Given the description of an element on the screen output the (x, y) to click on. 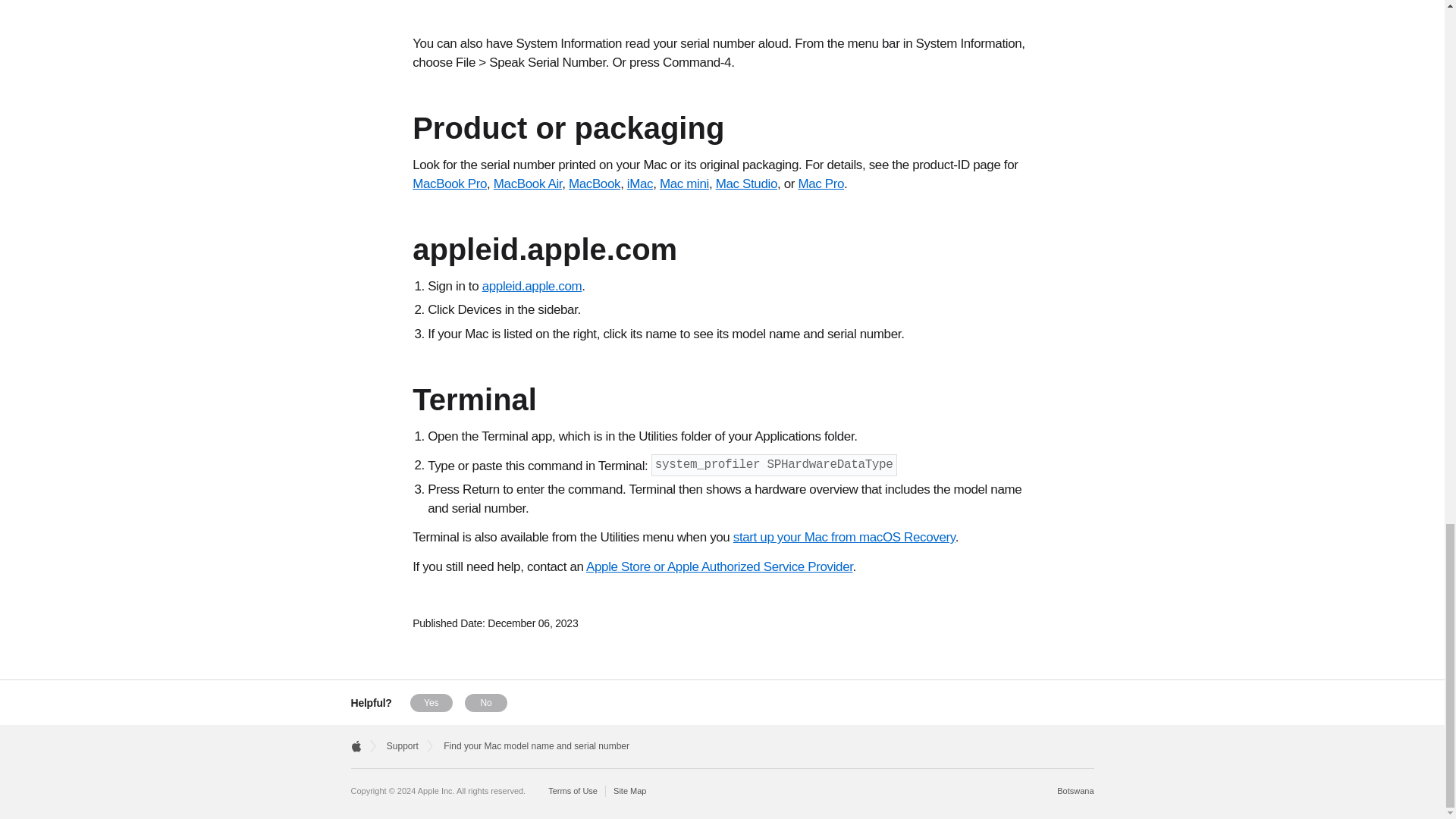
Choose your country or region (1075, 790)
Solved my problem (431, 702)
Not helpful (485, 702)
